Given the description of an element on the screen output the (x, y) to click on. 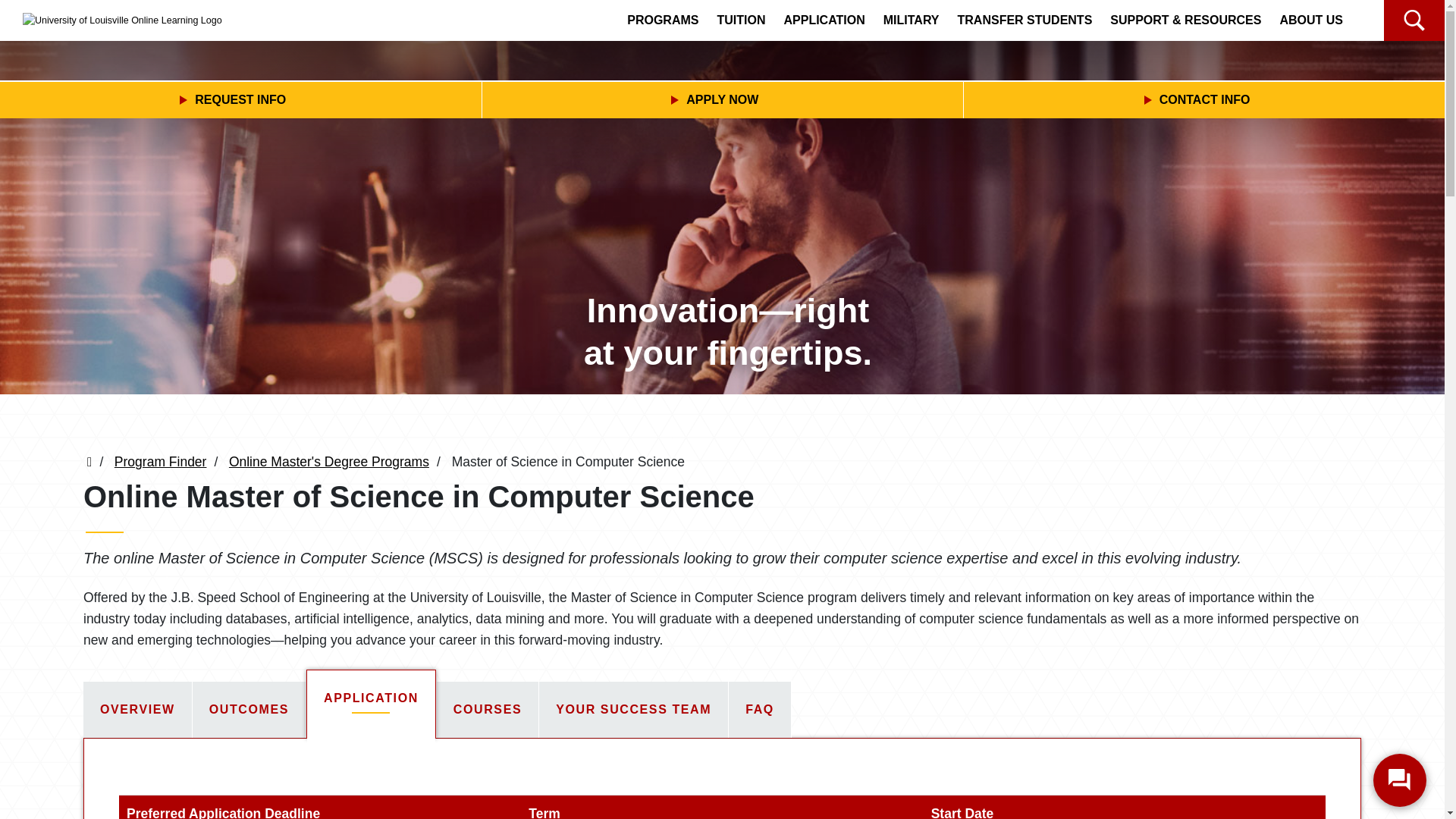
PROGRAMS (662, 24)
ABOUT US (1310, 24)
APPLY NOW (722, 99)
REQUEST INFO (240, 99)
TRANSFER STUDENTS (1025, 24)
TUITION (740, 24)
APPLICATION (823, 24)
MILITARY (912, 24)
